Given the description of an element on the screen output the (x, y) to click on. 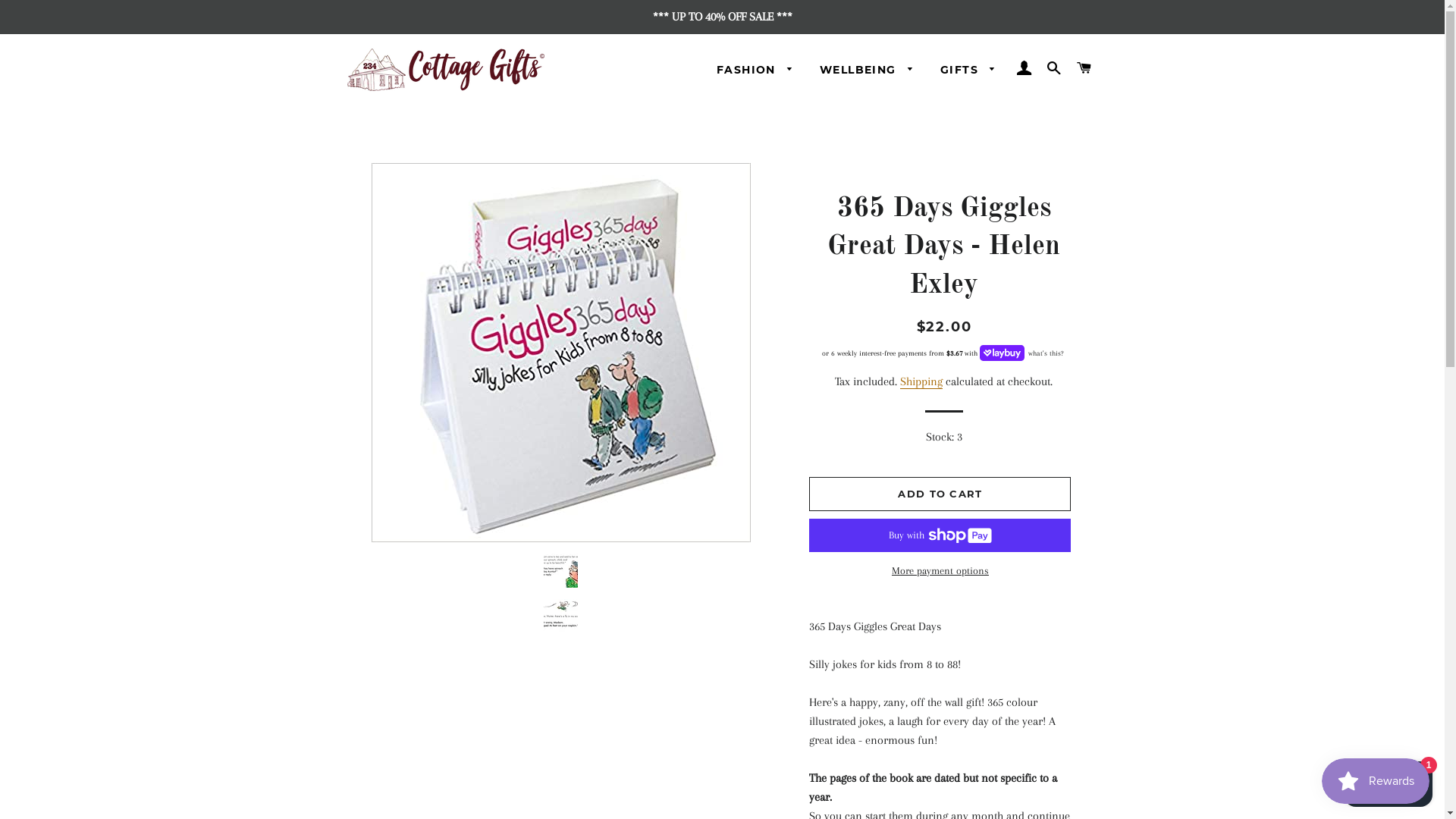
GIFTS Element type: text (967, 70)
SEARCH Element type: text (1054, 68)
Shipping Element type: text (921, 381)
LOG IN Element type: text (1023, 68)
*** UP TO 40% OFF SALE *** Element type: text (722, 17)
what's this? Element type: text (1043, 352)
Shopify online store chat Element type: hover (1388, 780)
Smile.io Rewards Program Launcher Element type: hover (1375, 780)
WELLBEING Element type: text (866, 70)
More payment options Element type: text (939, 570)
ADD TO CART Element type: text (939, 493)
FASHION Element type: text (755, 70)
CART Element type: text (1083, 68)
